Given the description of an element on the screen output the (x, y) to click on. 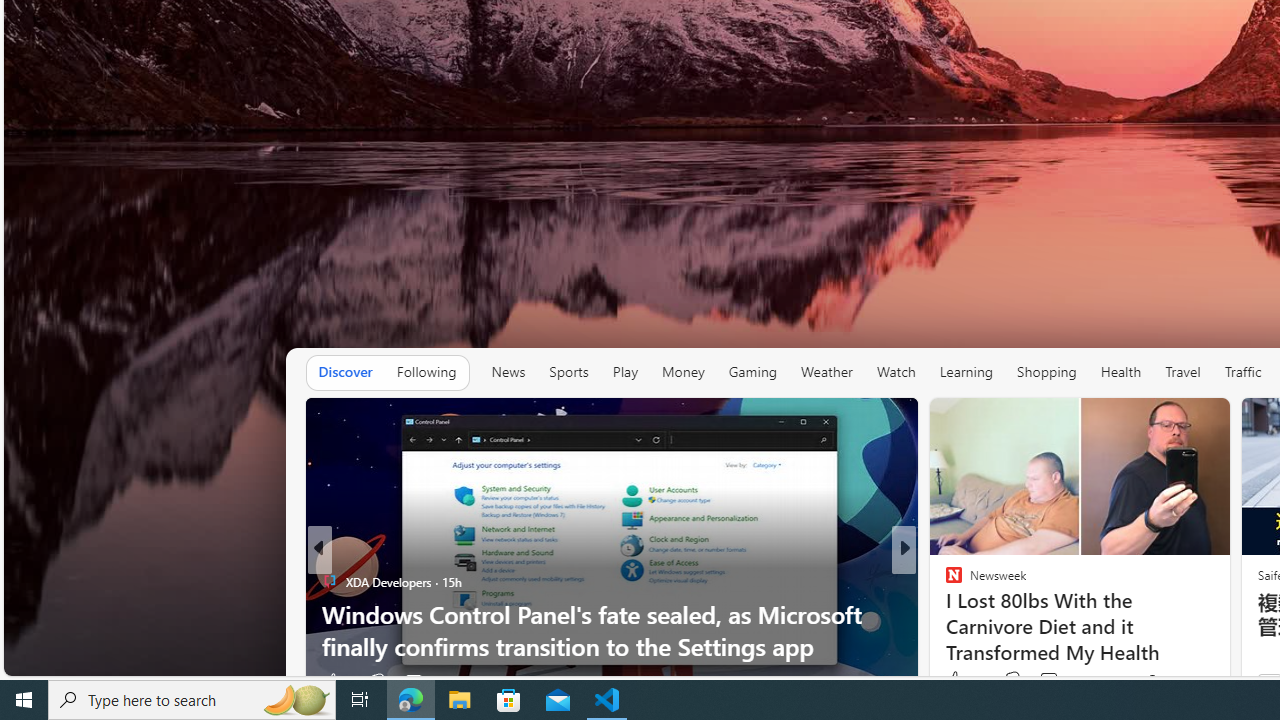
View comments 73 Comment (1057, 680)
You're following Newsweek (1179, 679)
View comments 73 Comment (1048, 679)
CNBC (944, 581)
View comments 31 Comment (1042, 681)
